Given the description of an element on the screen output the (x, y) to click on. 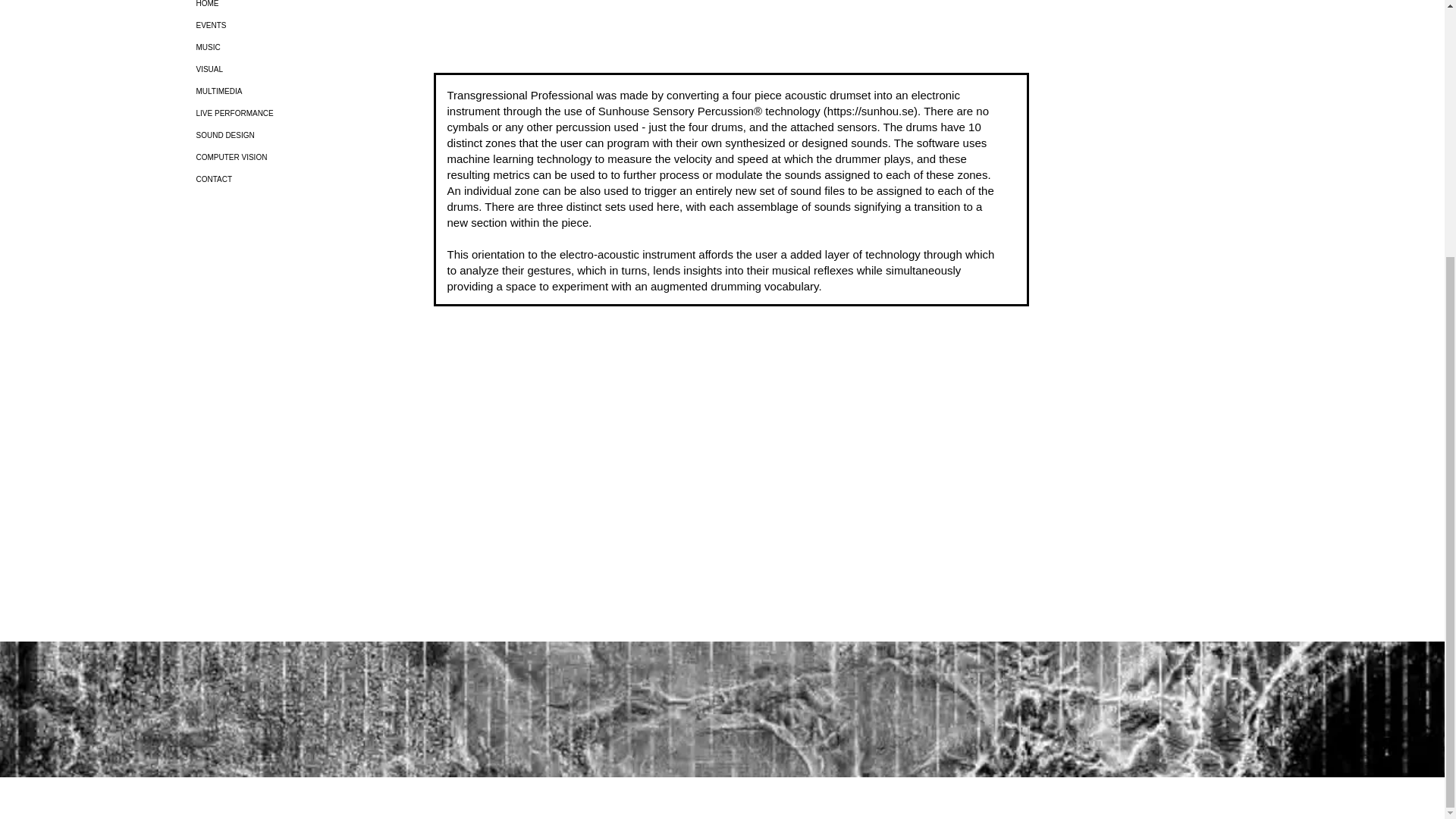
LIVE PERFORMANCE (278, 113)
SOUND DESIGN (278, 135)
COMPUTER VISION (278, 157)
VISUAL (278, 69)
EVENTS (278, 25)
MULTIMEDIA (278, 91)
HOME (278, 7)
CONTACT (278, 179)
MUSIC (278, 47)
